Given the description of an element on the screen output the (x, y) to click on. 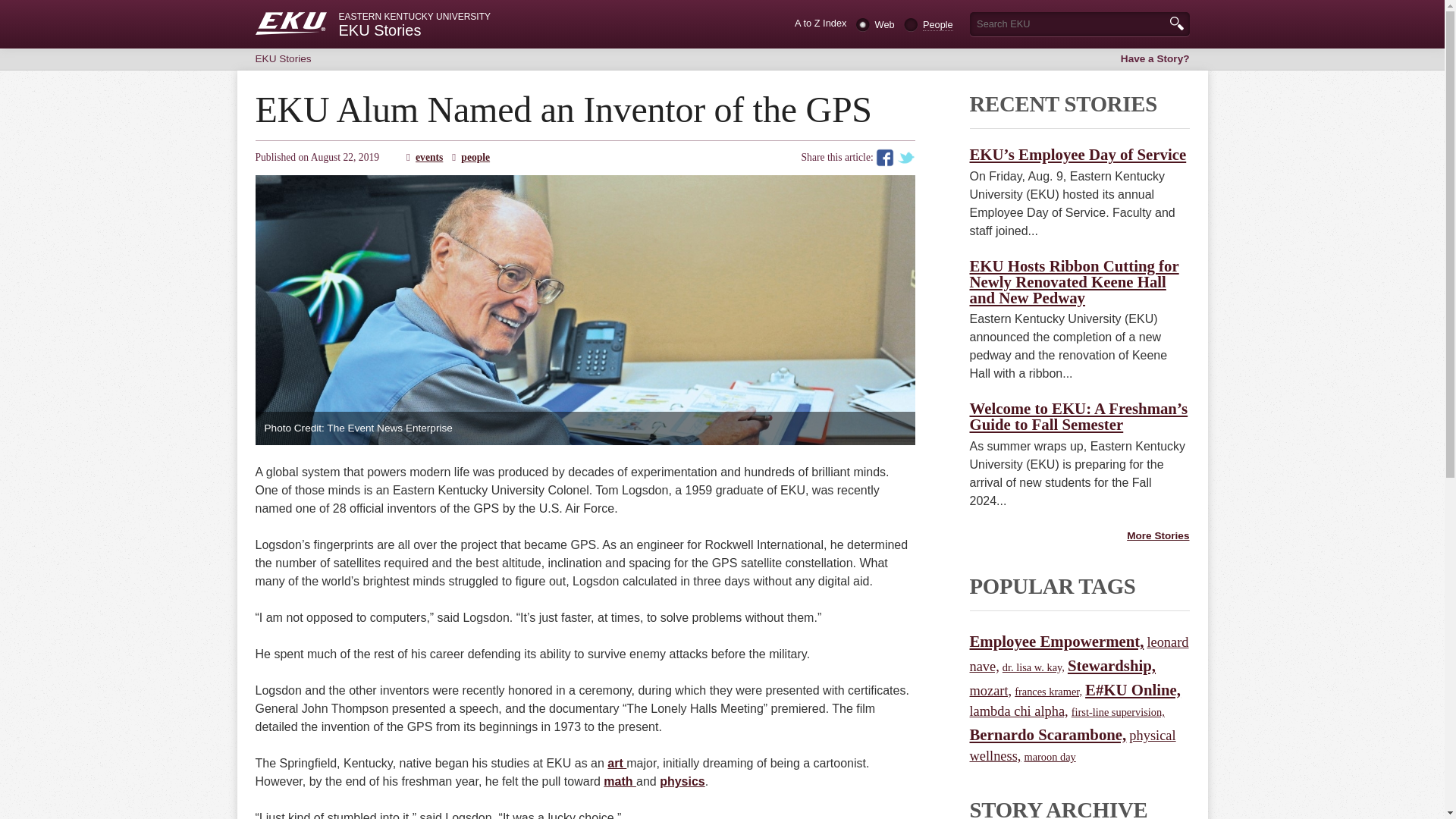
EKU (290, 23)
mozart, (990, 690)
Go (1175, 23)
More Stories (1157, 535)
events (428, 156)
physics (681, 780)
Twitter (905, 157)
Share this story on Facebook (884, 157)
EKU Stories (282, 58)
lambda chi alpha, (1018, 711)
